Given the description of an element on the screen output the (x, y) to click on. 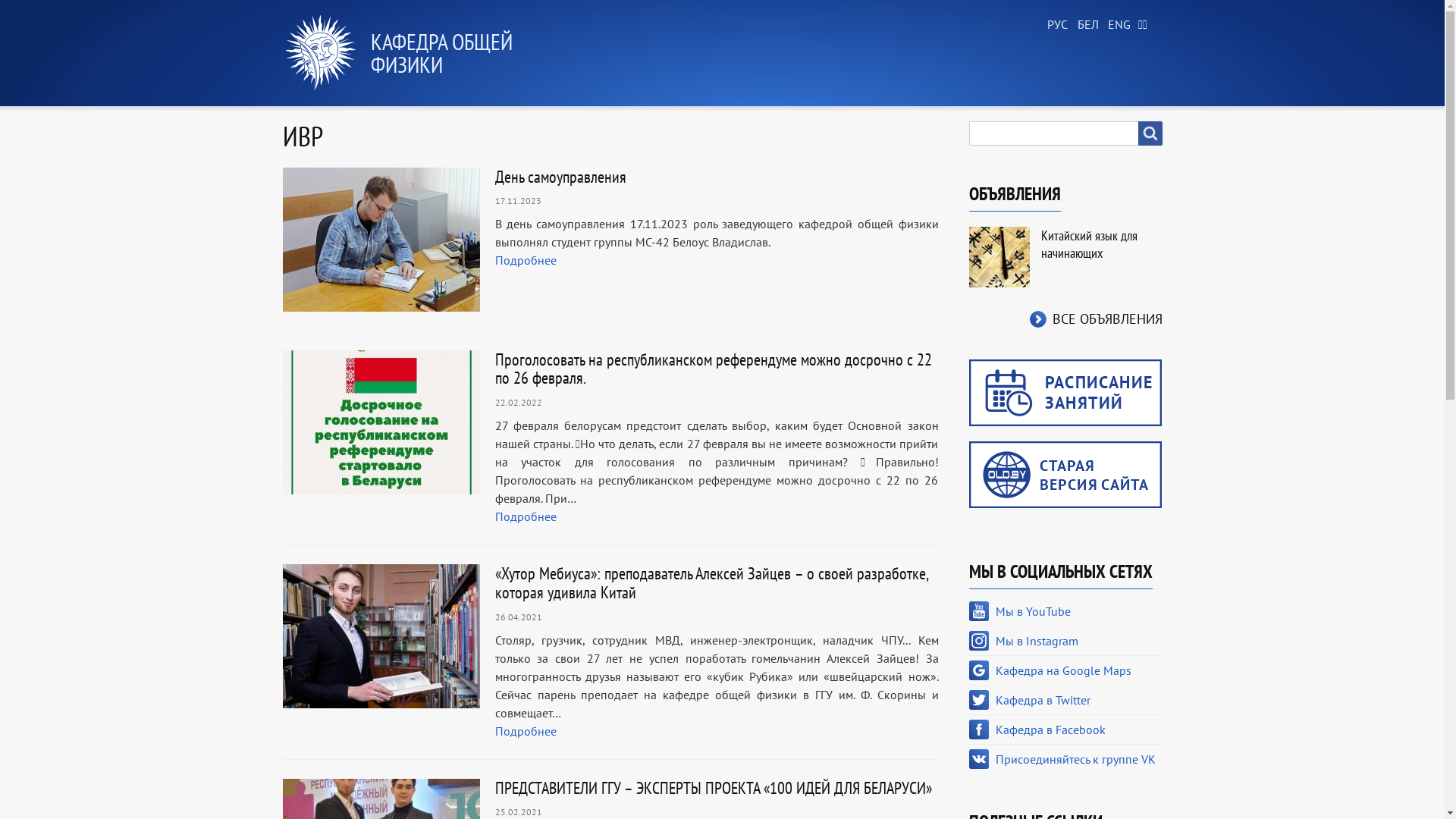
Belarusian Element type: text (1085, 24)
Search Element type: text (1149, 133)
Russian Element type: text (1055, 24)
Chinese, Traditional Element type: text (1146, 24)
English Element type: text (1116, 24)
